Given the description of an element on the screen output the (x, y) to click on. 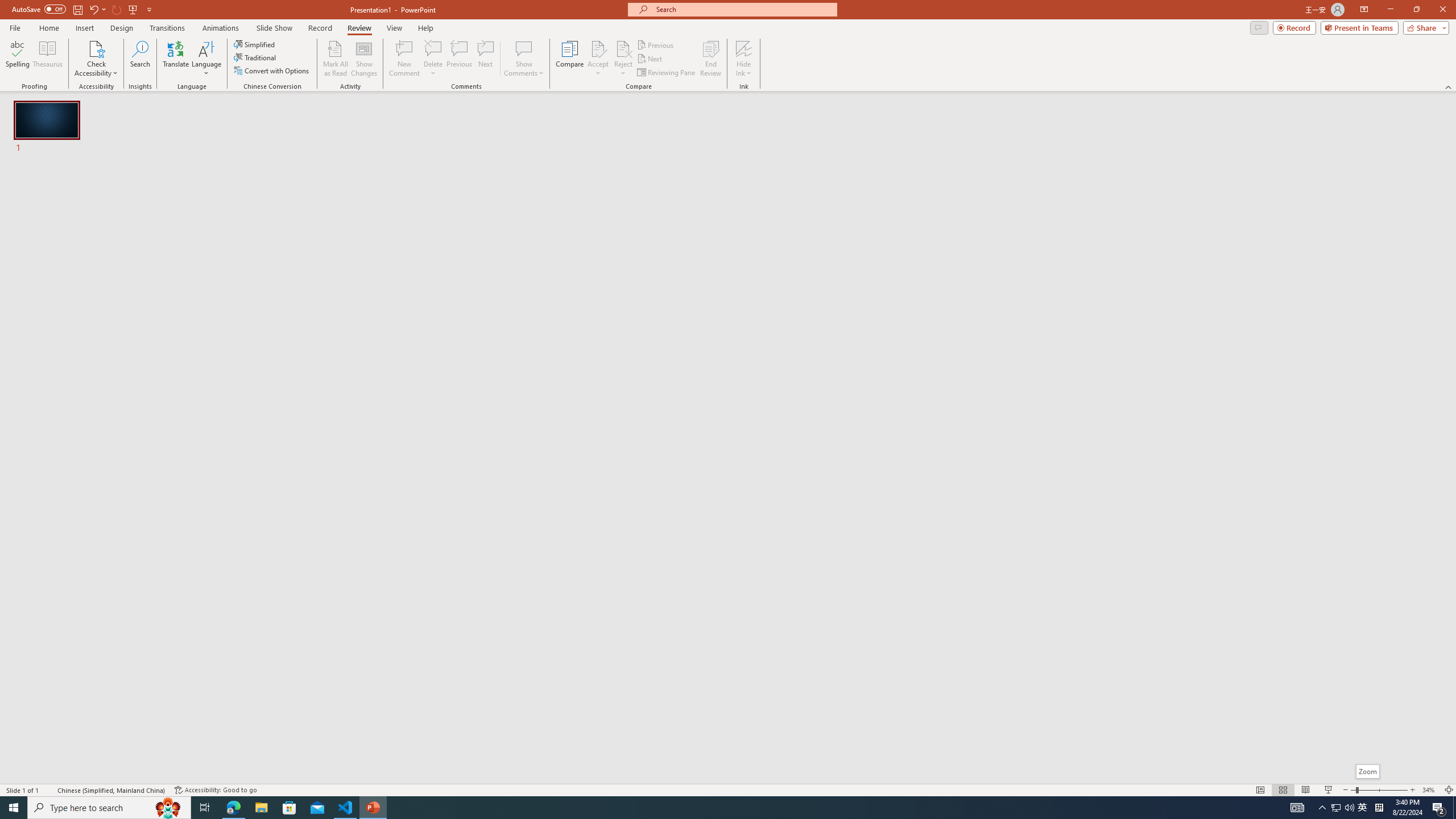
Mark All as Read (335, 58)
